Given the description of an element on the screen output the (x, y) to click on. 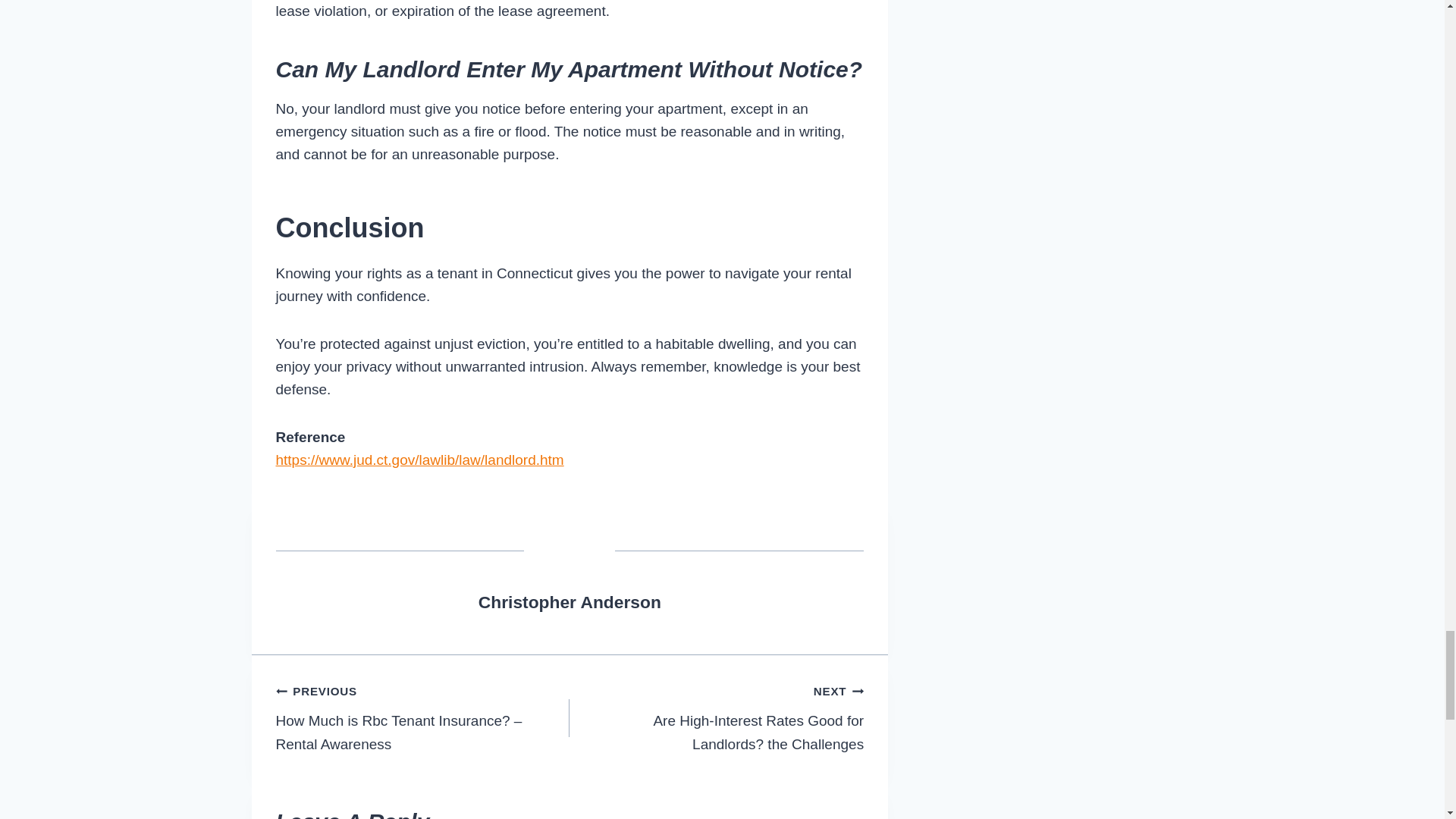
Posts by Christopher Anderson (570, 601)
